Given the description of an element on the screen output the (x, y) to click on. 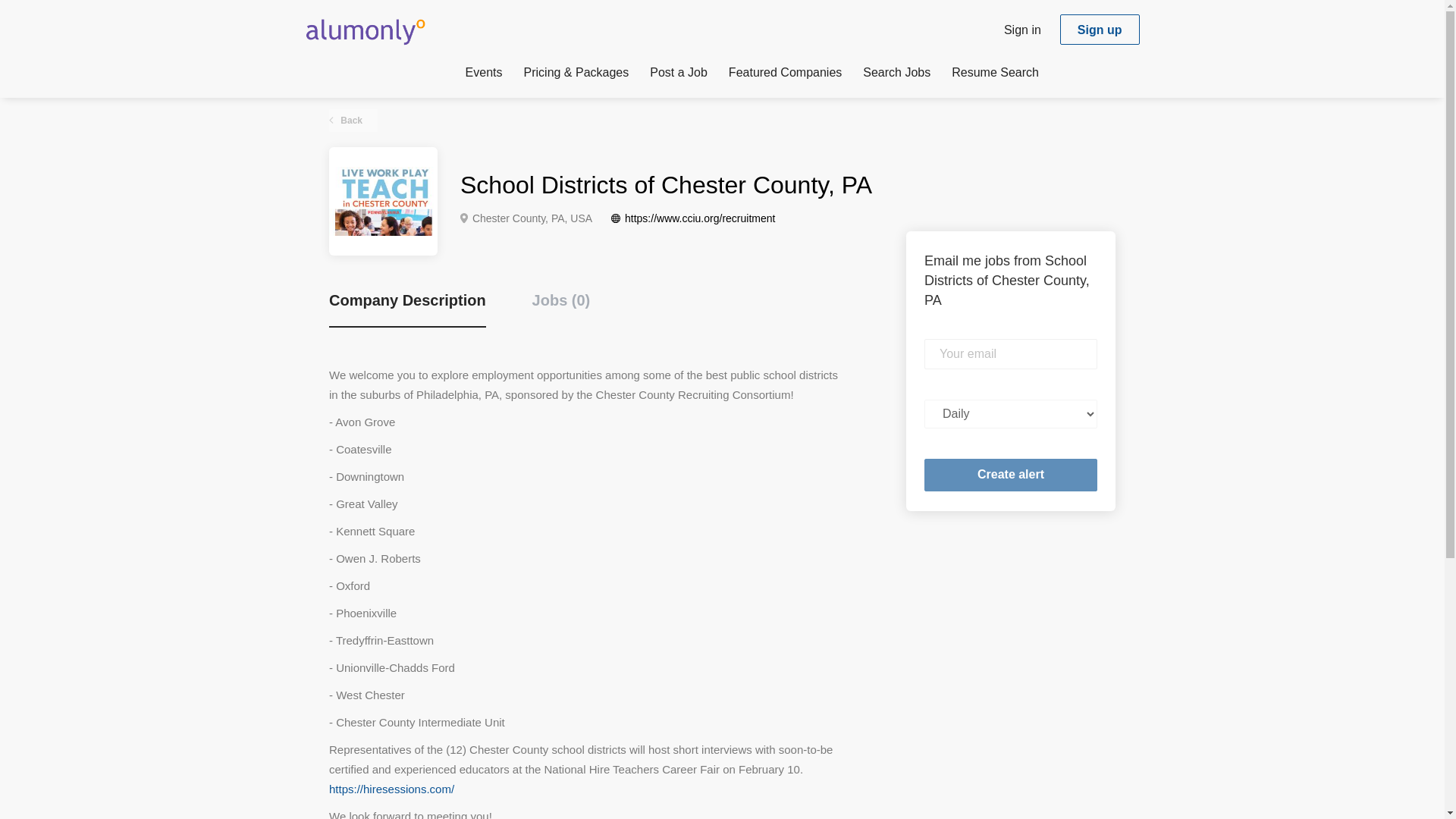
Company Description (407, 308)
Featured Companies (785, 75)
Events (483, 75)
Create alert (1010, 474)
Resume Search (995, 75)
Search Jobs (896, 75)
Back (353, 119)
Create alert (1010, 474)
Post a Job (678, 75)
Sign up (1099, 29)
